Given the description of an element on the screen output the (x, y) to click on. 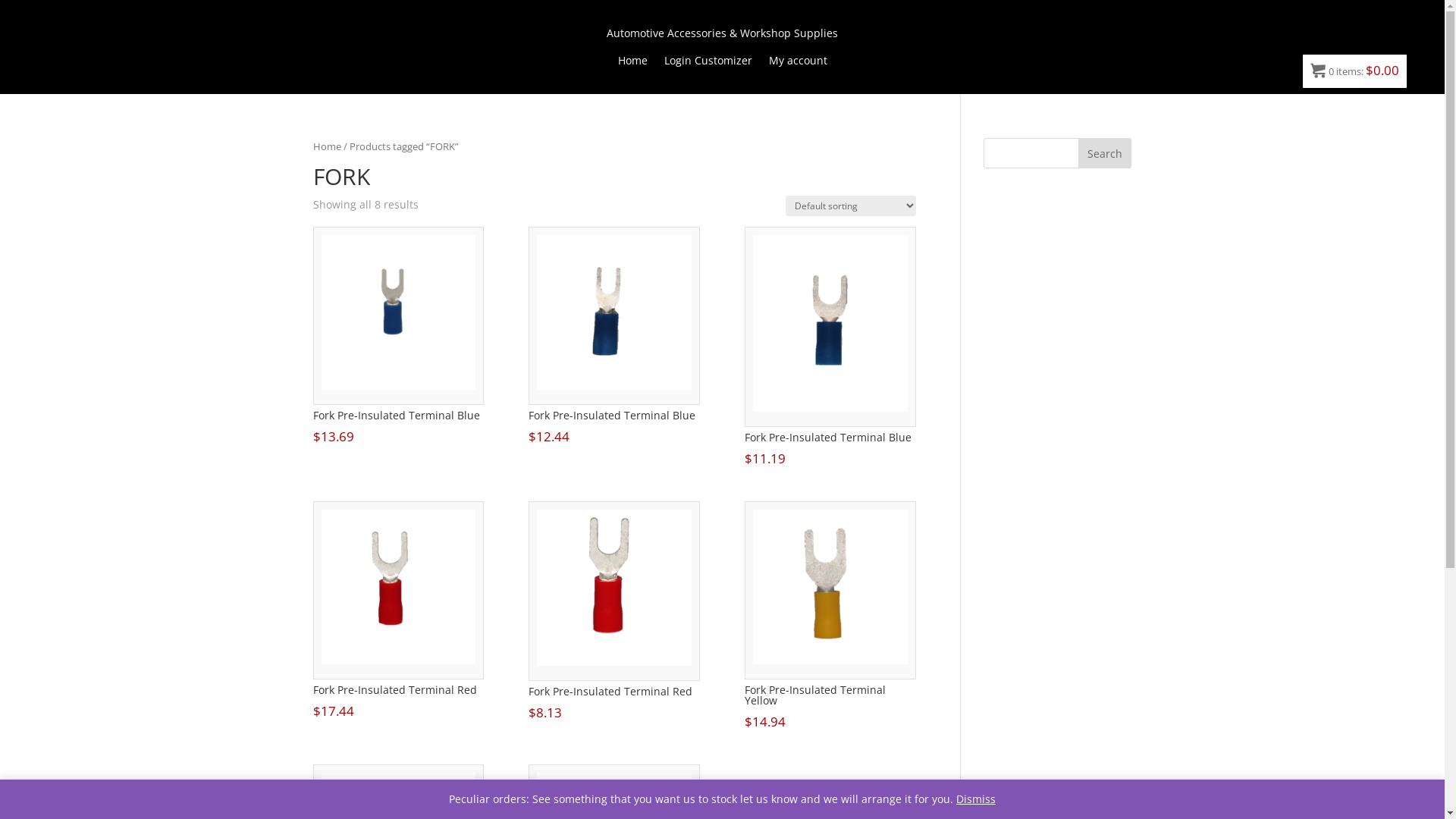
Login Customizer Element type: text (708, 63)
0 items: $0.00 Element type: text (1354, 70)
Search Element type: text (1104, 153)
Home Element type: text (631, 63)
My account Element type: text (797, 63)
Home Element type: text (326, 146)
Fork Pre-Insulated Terminal Blue
$13.69 Element type: text (397, 336)
Dismiss Element type: text (975, 798)
0 items: $0.00 Element type: text (1354, 70)
Fork Pre-Insulated Terminal Yellow
$14.94 Element type: text (829, 616)
Fork Pre-Insulated Terminal Blue
$12.44 Element type: text (613, 336)
Fork Pre-Insulated Terminal Red
$8.13 Element type: text (613, 612)
Fork Pre-Insulated Terminal Blue
$11.19 Element type: text (829, 347)
Fork Pre-Insulated Terminal Red
$17.44 Element type: text (397, 611)
